Given the description of an element on the screen output the (x, y) to click on. 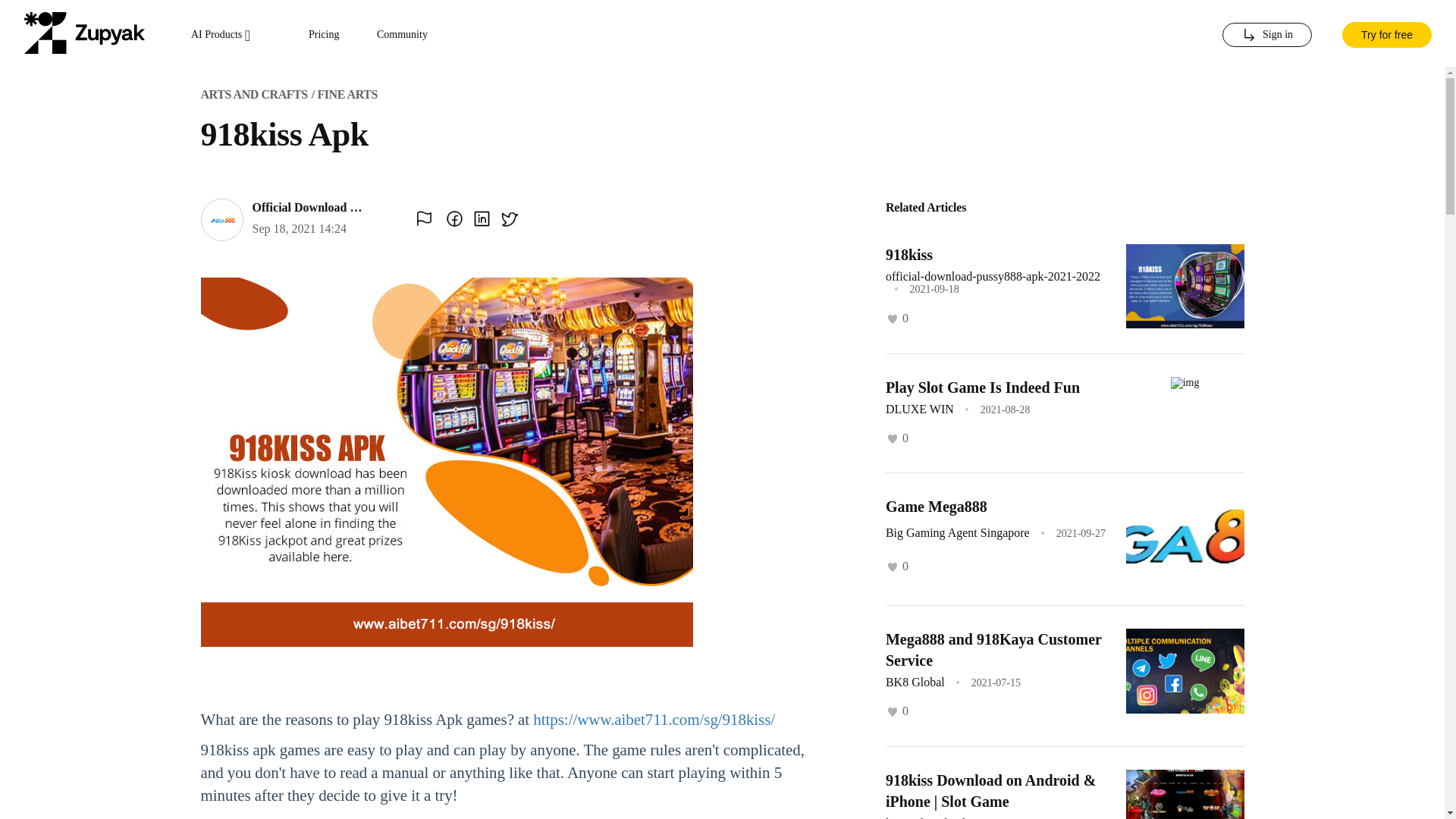
Game Mega888 (936, 506)
Play Slot Game Is Indeed Fun (982, 387)
Community (402, 34)
Try for free (1386, 33)
FINE ARTS (347, 93)
ARTS AND CRAFTS (253, 93)
918kiss (909, 254)
 Sign in (1267, 34)
Mega888 and 918Kaya Customer Service (993, 649)
Pricing (323, 34)
